Given the description of an element on the screen output the (x, y) to click on. 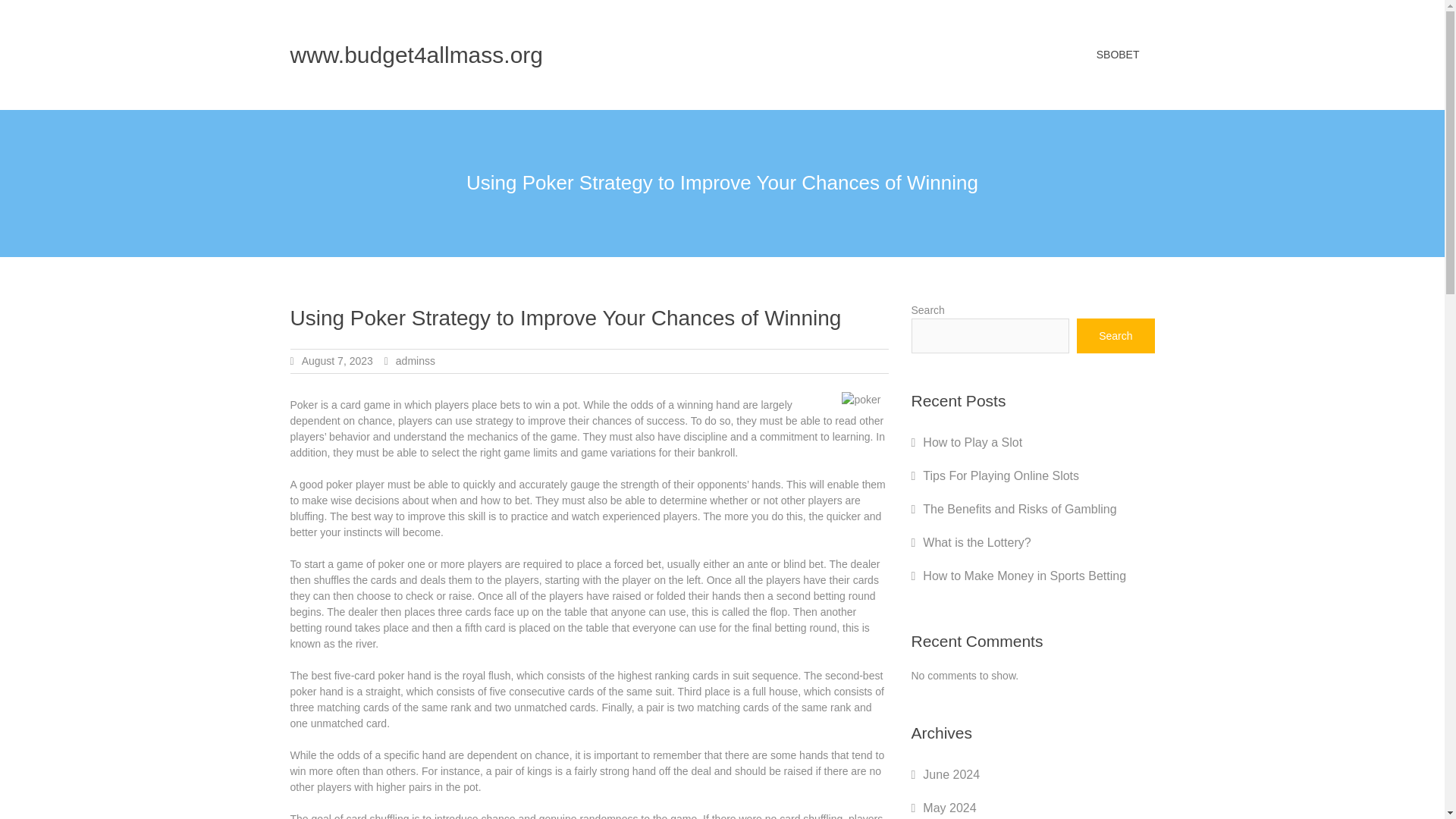
August 7, 2023 (336, 360)
What is the Lottery? (976, 542)
The Benefits and Risks of Gambling (1019, 508)
Tips For Playing Online Slots (1000, 475)
May 2024 (949, 807)
How to Play a Slot (972, 441)
How to Make Money in Sports Betting (1024, 575)
adminss (415, 360)
SBOBET (1117, 55)
Search (1115, 335)
June 2024 (951, 774)
www.budget4allmass.org (416, 54)
